Given the description of an element on the screen output the (x, y) to click on. 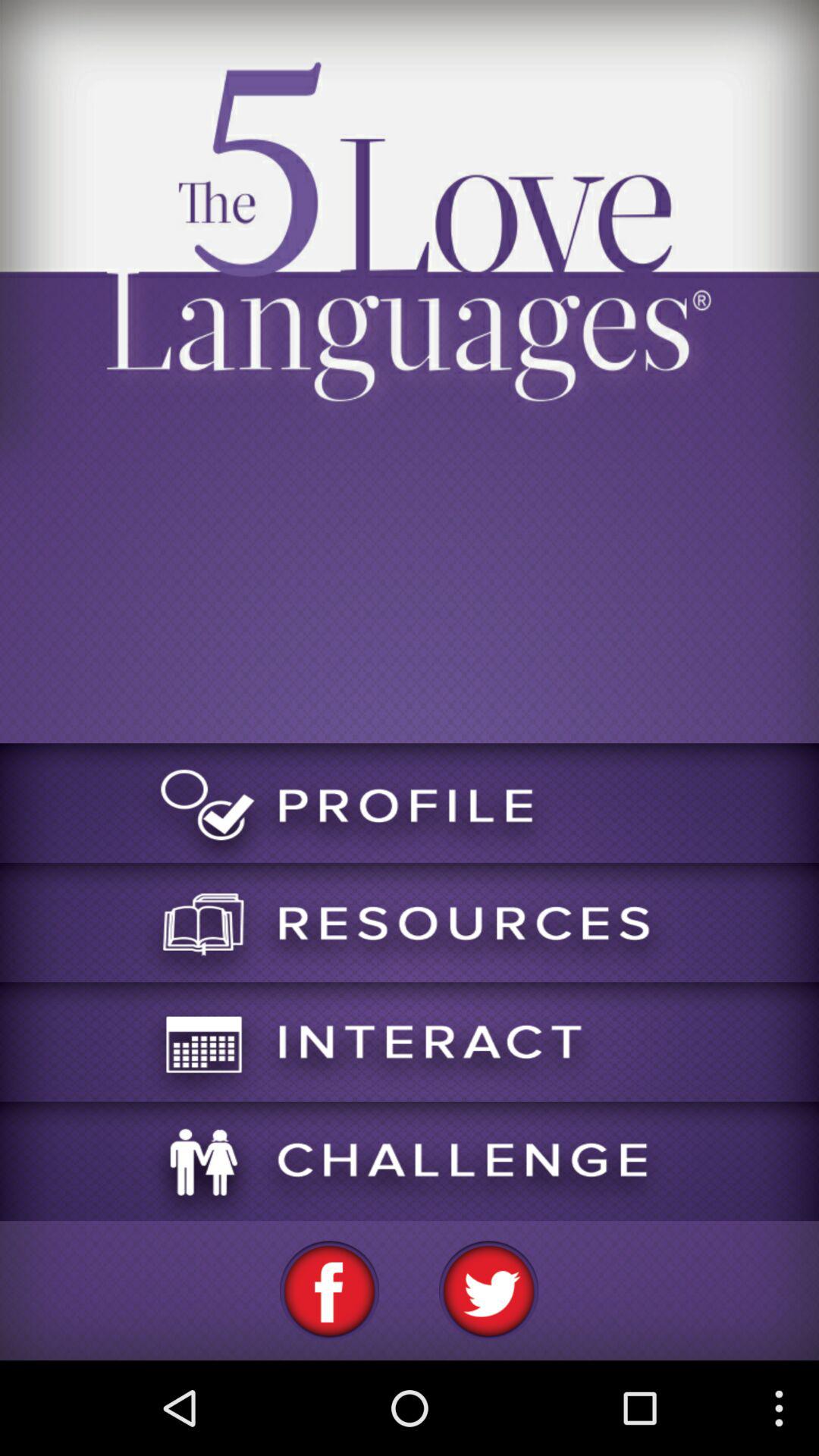
interact (409, 1041)
